Given the description of an element on the screen output the (x, y) to click on. 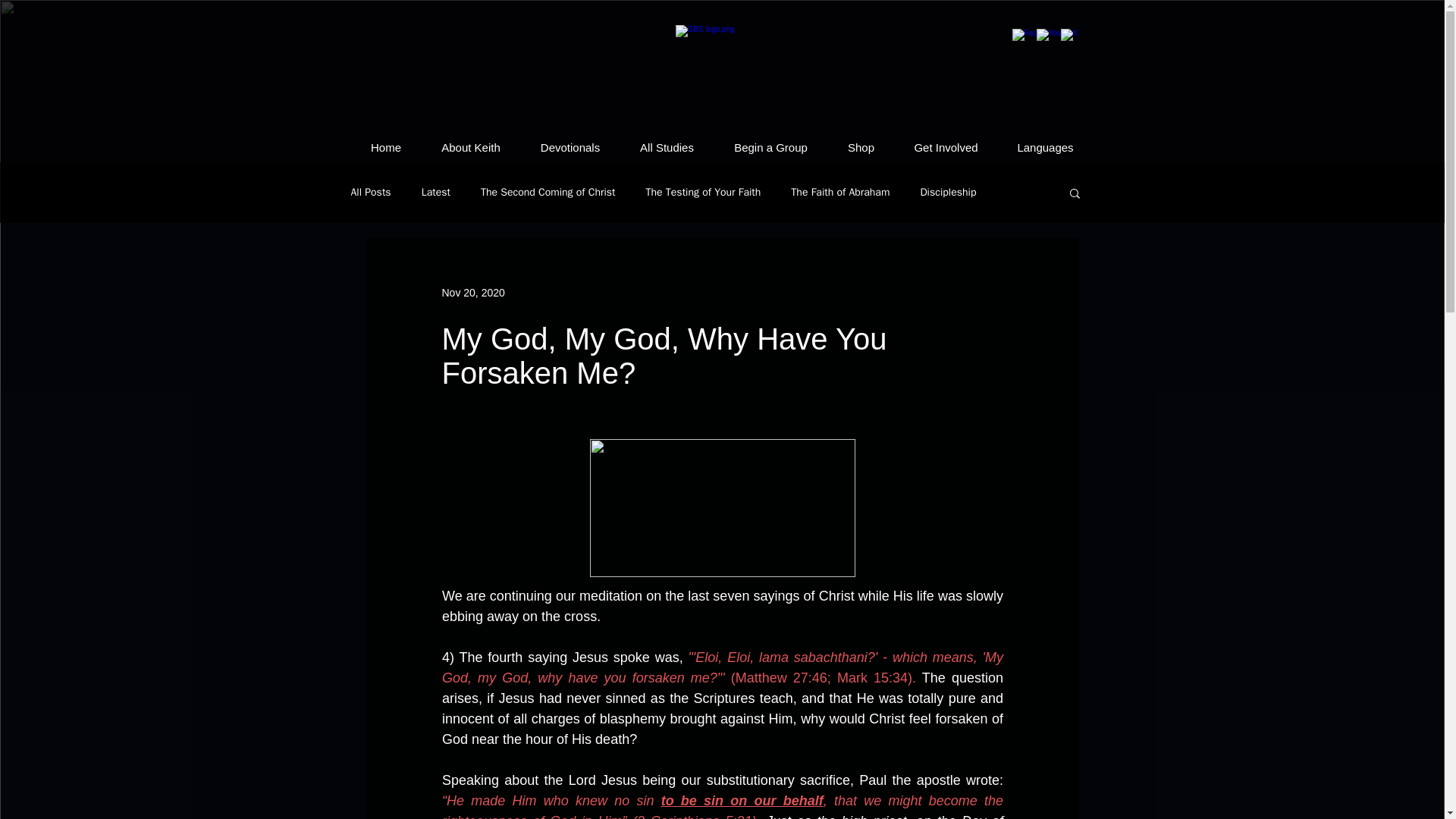
Languages (1045, 147)
All Studies (667, 147)
Devotionals (569, 147)
The Testing of Your Faith (703, 192)
Home (385, 147)
Shop (861, 147)
Get Involved (946, 147)
All Posts (370, 192)
The Faith of Abraham (839, 192)
Latest (435, 192)
